Given the description of an element on the screen output the (x, y) to click on. 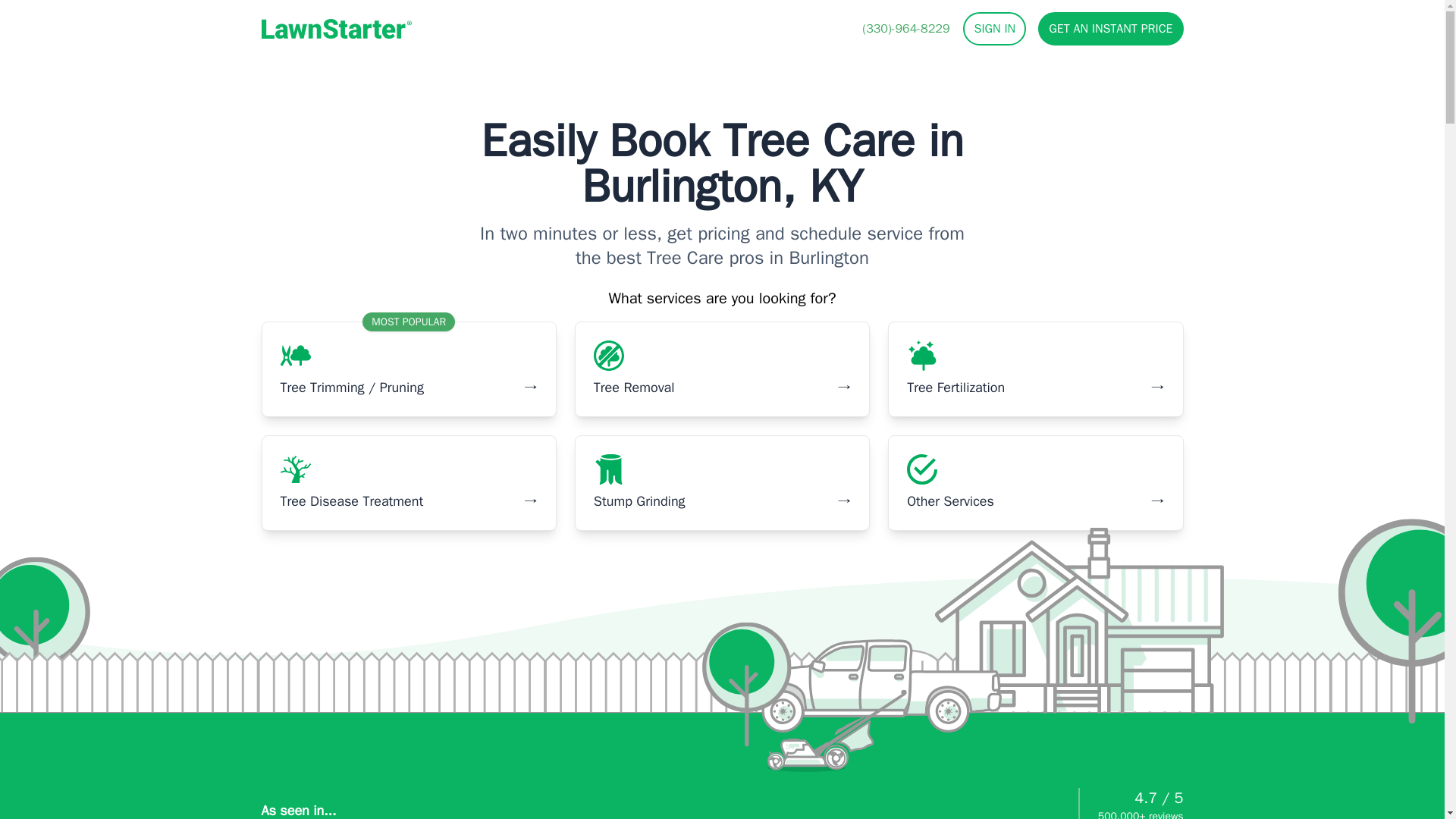
GET AN INSTANT PRICE (1110, 28)
SIGN IN (994, 28)
LawnStarter (335, 28)
